Given the description of an element on the screen output the (x, y) to click on. 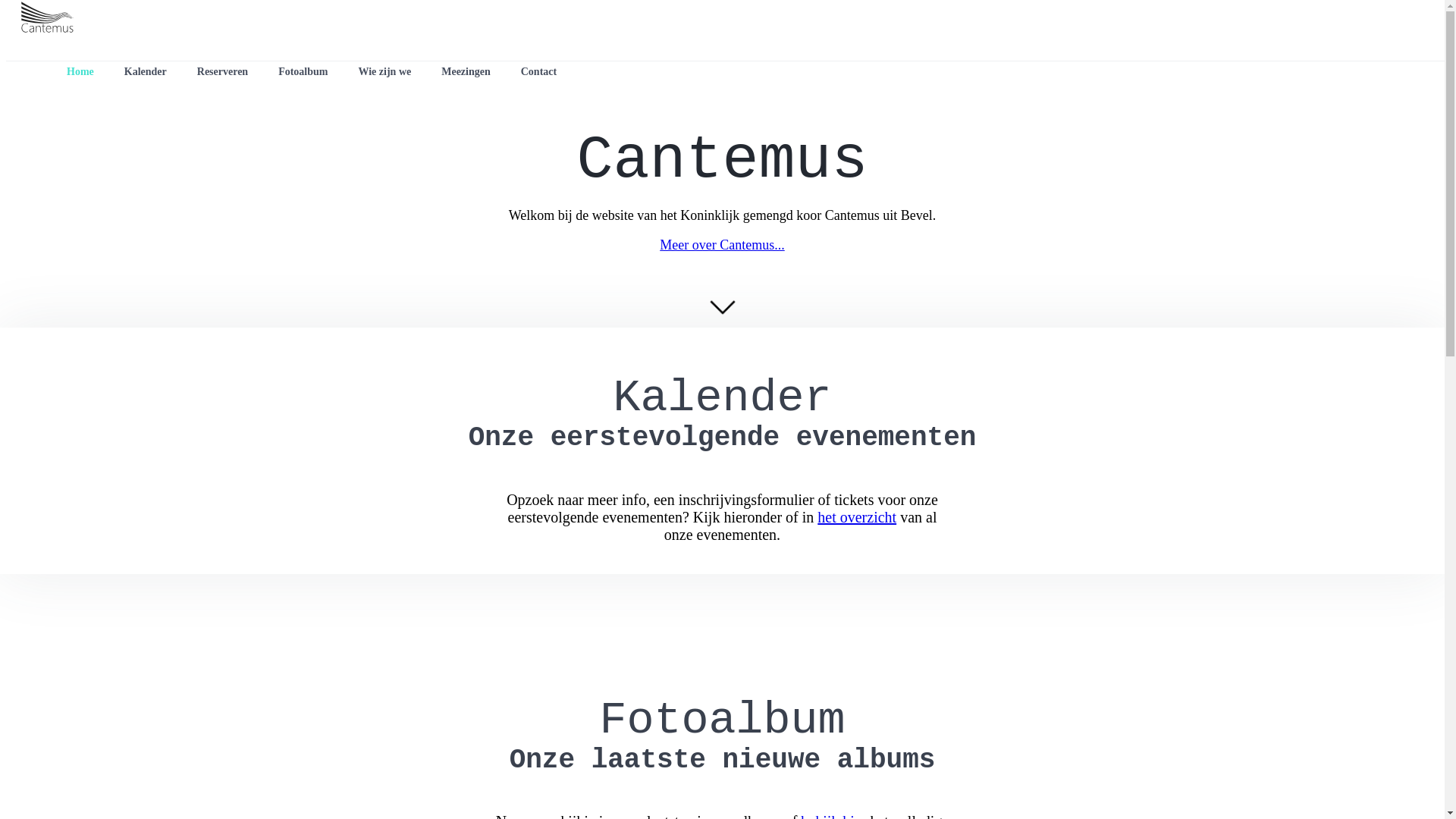
Meer over Cantemus... Element type: text (721, 244)
Kalender Element type: text (145, 71)
Wie zijn we Element type: text (384, 71)
Home Element type: text (80, 71)
het overzicht Element type: text (856, 516)
Reserveren Element type: text (222, 71)
Meezingen Element type: text (465, 71)
Contact Element type: text (538, 71)
Fotoalbum Element type: text (302, 71)
